Given the description of an element on the screen output the (x, y) to click on. 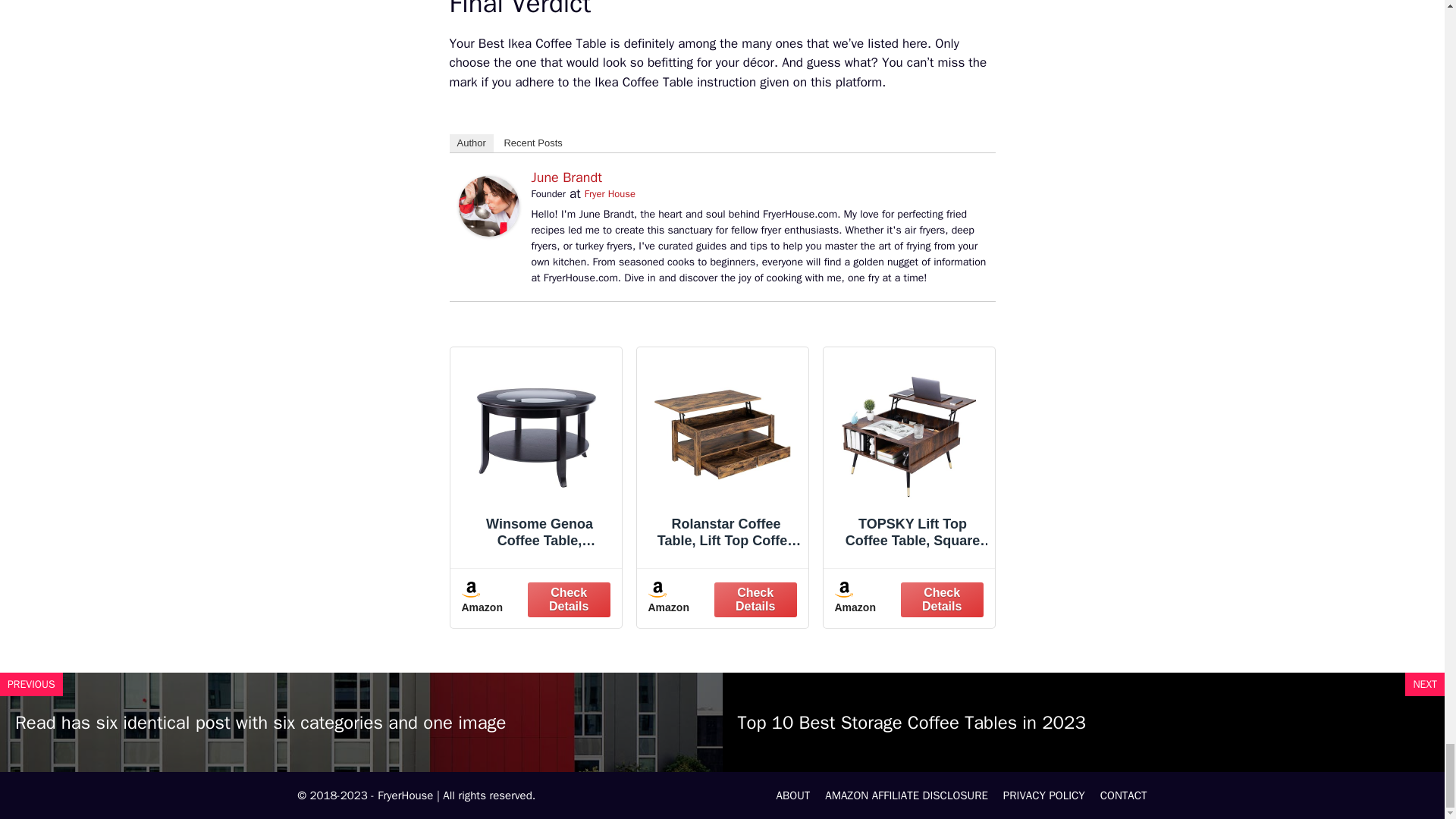
June Brandt (566, 176)
Recent Posts (532, 143)
Fryer House (609, 193)
Author (470, 143)
June Brandt (488, 232)
